Given the description of an element on the screen output the (x, y) to click on. 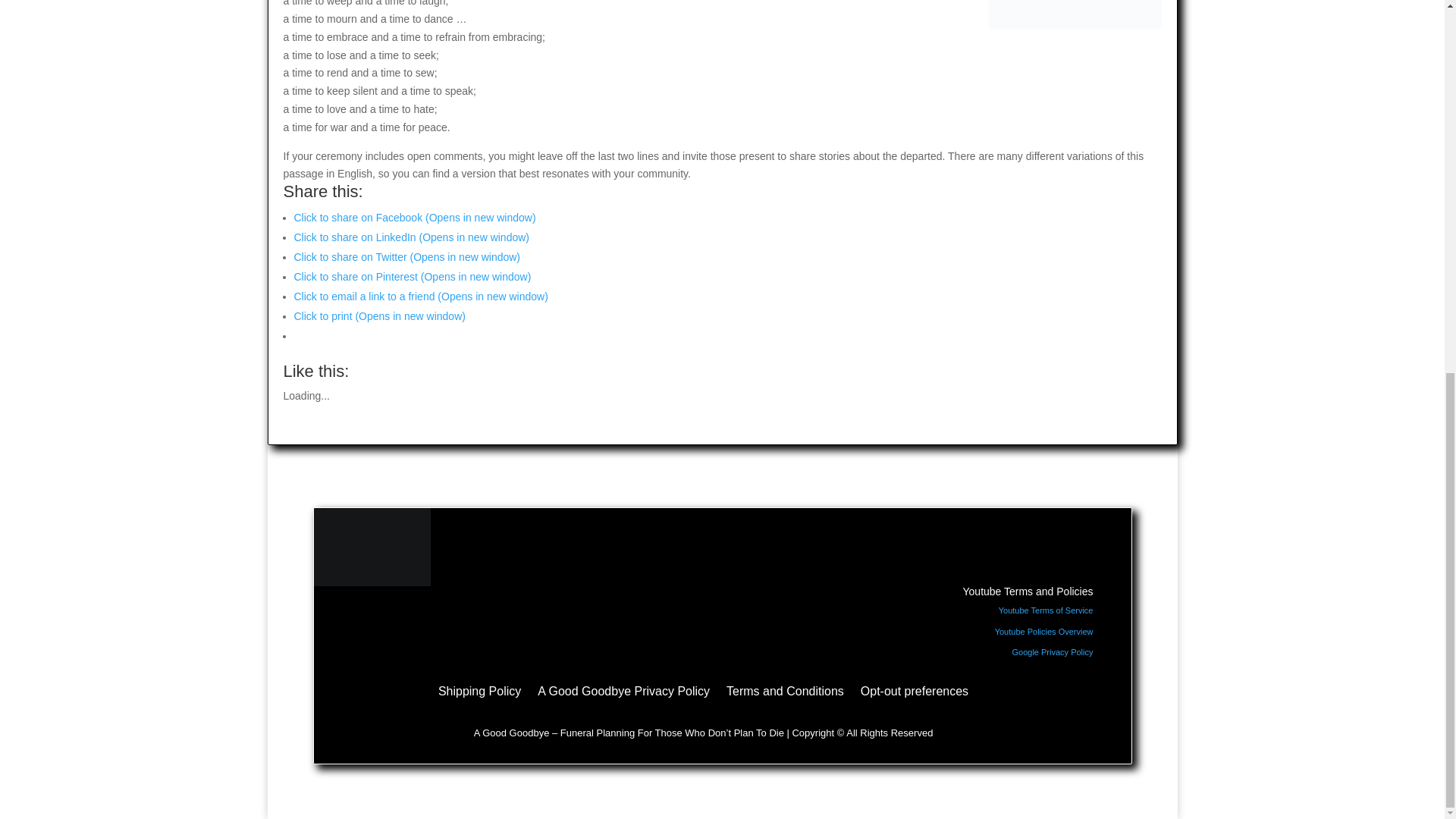
Click to share on Twitter (407, 256)
Click to share on Facebook (414, 217)
Click to share on Pinterest (412, 276)
Click to share on LinkedIn (411, 236)
Click to email a link to a friend (421, 296)
Click to print (379, 316)
